Given the description of an element on the screen output the (x, y) to click on. 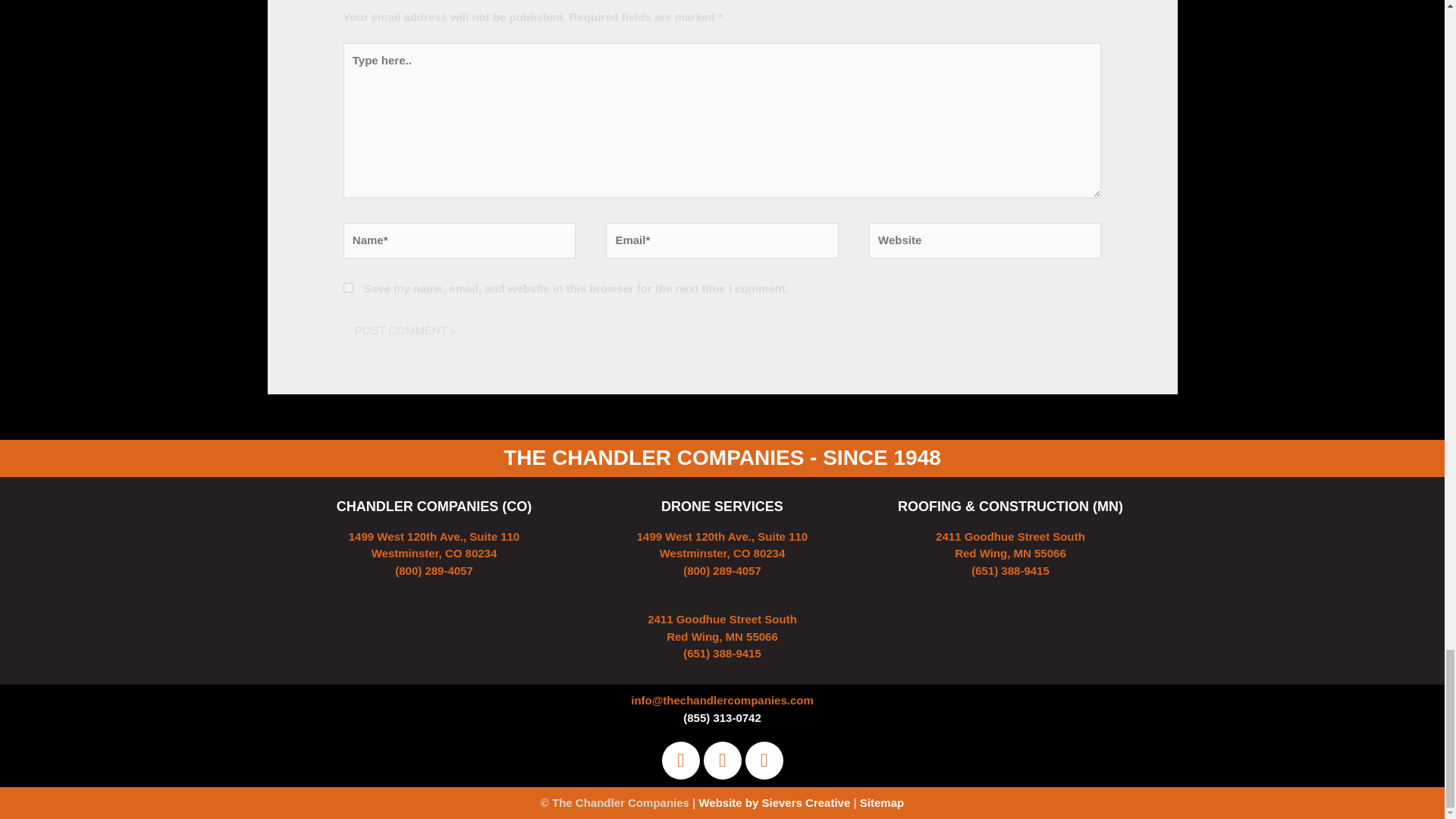
yes (348, 287)
